Given the description of an element on the screen output the (x, y) to click on. 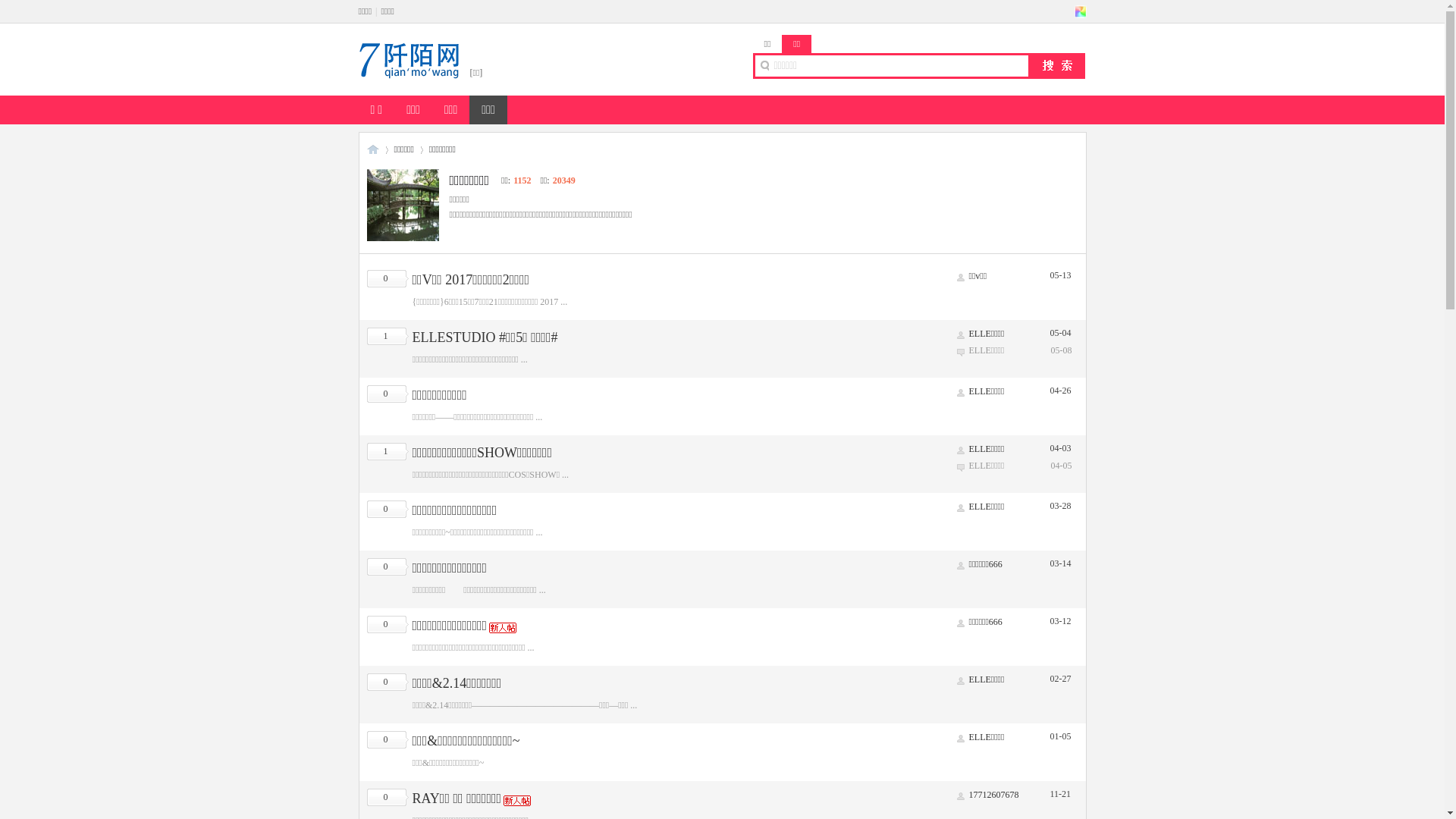
  Element type: text (1079, 11)
